Given the description of an element on the screen output the (x, y) to click on. 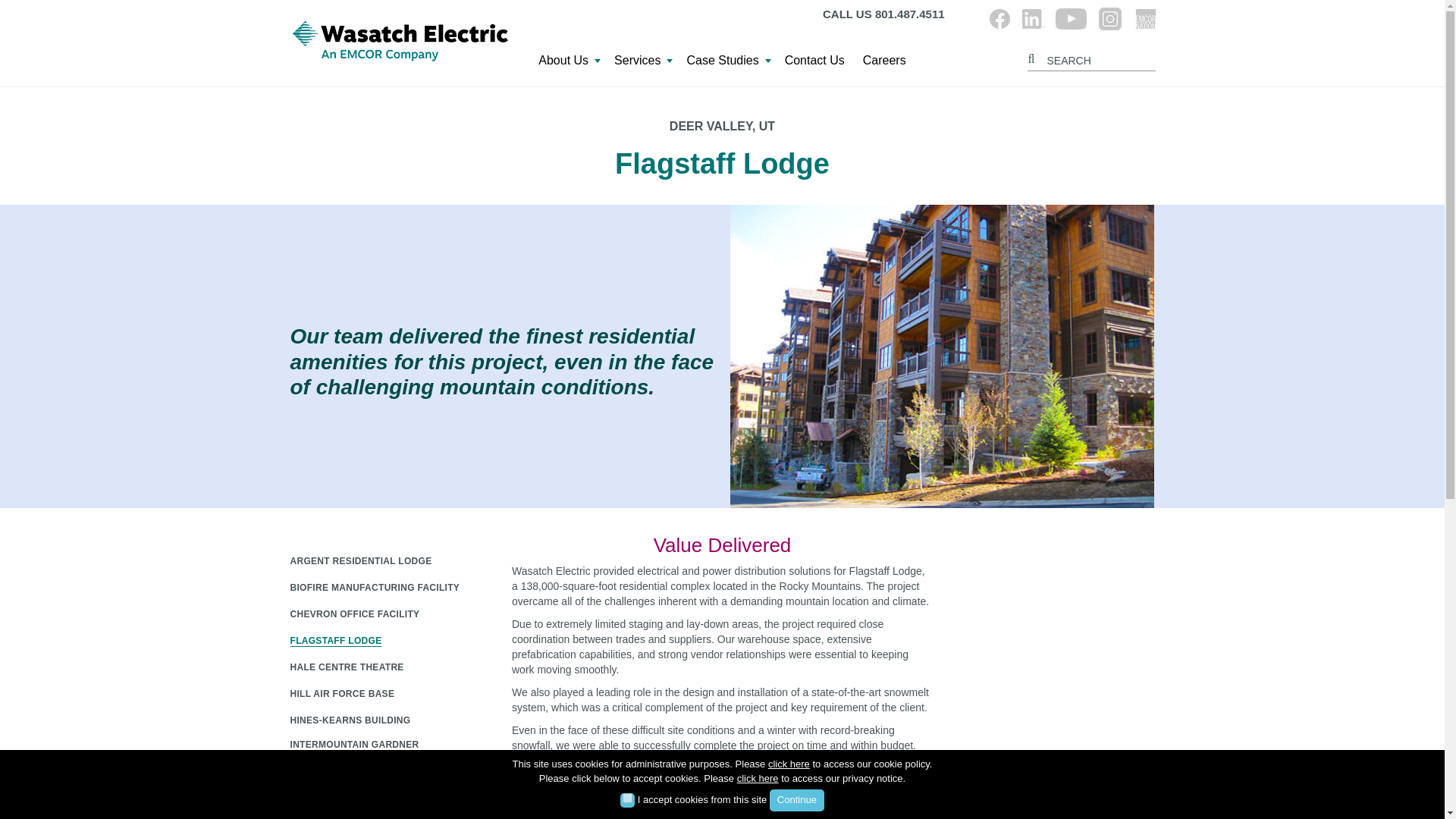
801.487.4511 (909, 13)
on (627, 798)
Continue (797, 800)
Go (1032, 56)
Case Studies (725, 64)
Services (641, 64)
About Us (567, 64)
